Given the description of an element on the screen output the (x, y) to click on. 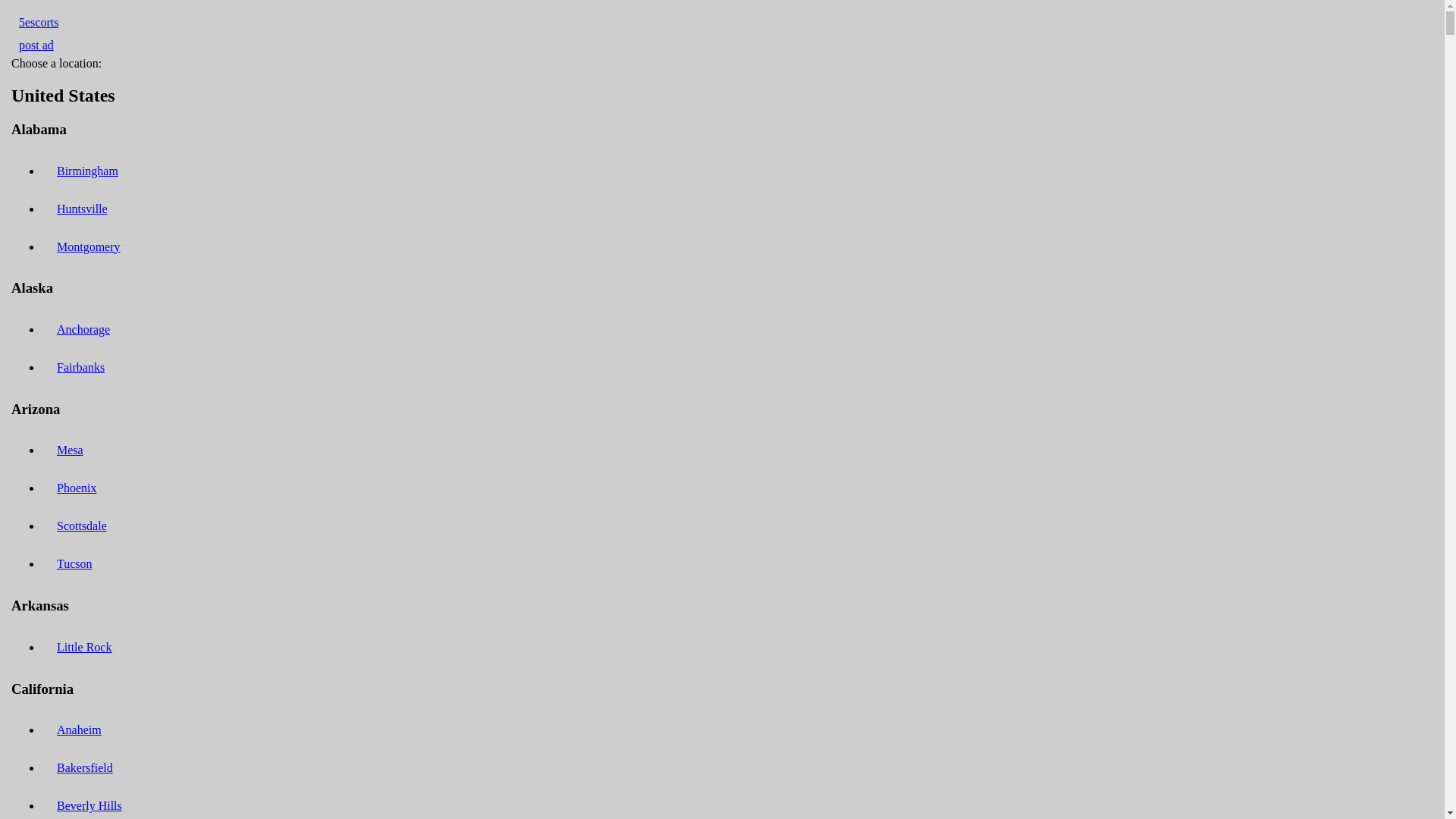
Phoenix Element type: text (76, 487)
Fairbanks Element type: text (80, 367)
5escorts Element type: text (38, 22)
Little Rock Element type: text (84, 647)
Mesa Element type: text (70, 450)
Birmingham Element type: text (87, 170)
post ad Element type: text (36, 45)
Scottsdale Element type: text (81, 525)
Montgomery Element type: text (88, 246)
Huntsville Element type: text (82, 208)
Bakersfield Element type: text (84, 767)
Anaheim Element type: text (79, 729)
Anchorage Element type: text (83, 329)
Tucson Element type: text (74, 563)
